Given the description of an element on the screen output the (x, y) to click on. 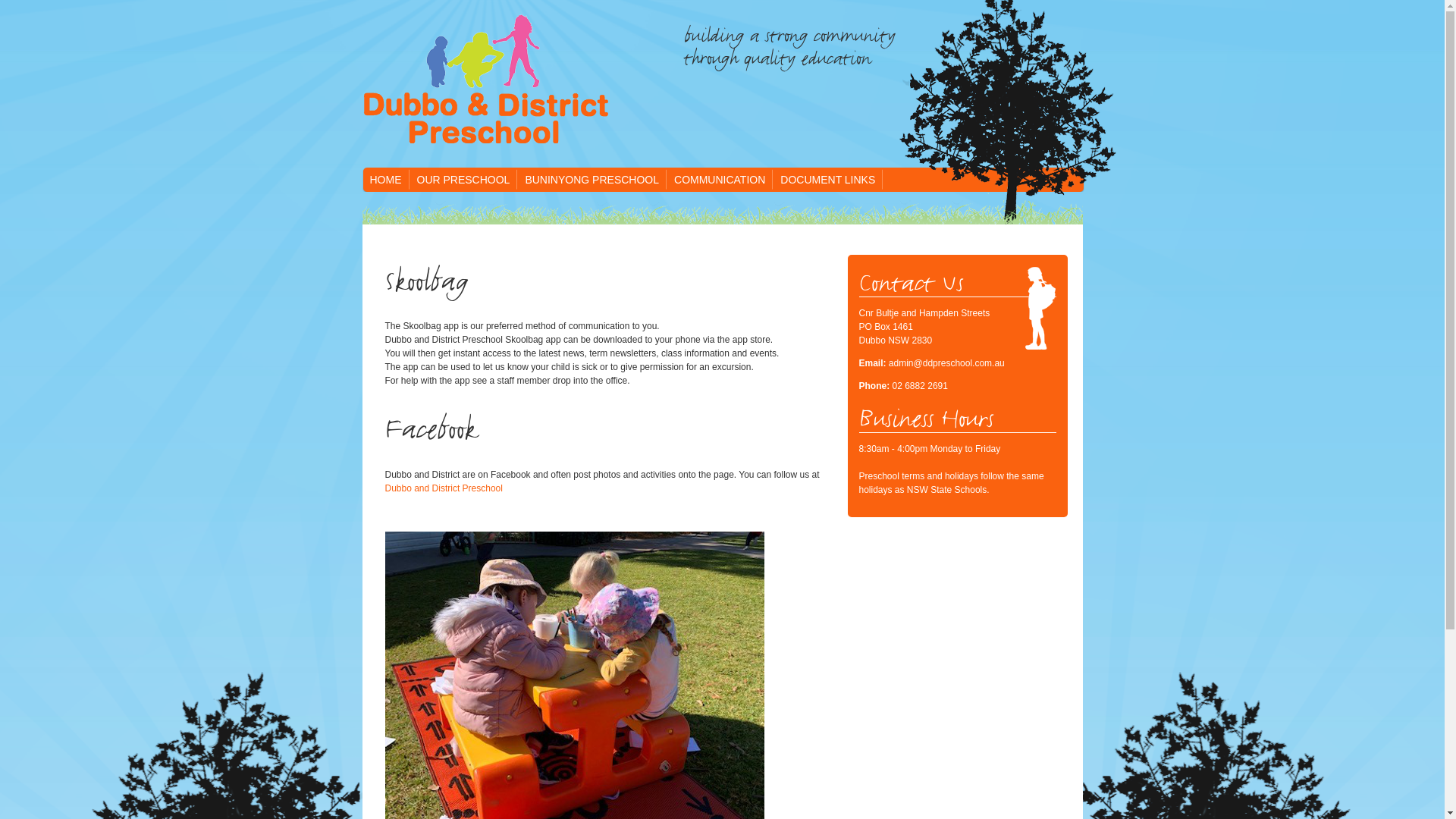
admin@ddpreschool.com.au Element type: text (946, 362)
02 6882 2691 Element type: text (919, 385)
BUNINYONG PRESCHOOL Element type: text (591, 179)
DOCUMENT LINKS Element type: text (827, 179)
Dubbo and District Preschool Element type: text (443, 488)
COMMUNICATION Element type: text (719, 179)
HOME Element type: text (385, 179)
OUR PRESCHOOL Element type: text (463, 179)
